Given the description of an element on the screen output the (x, y) to click on. 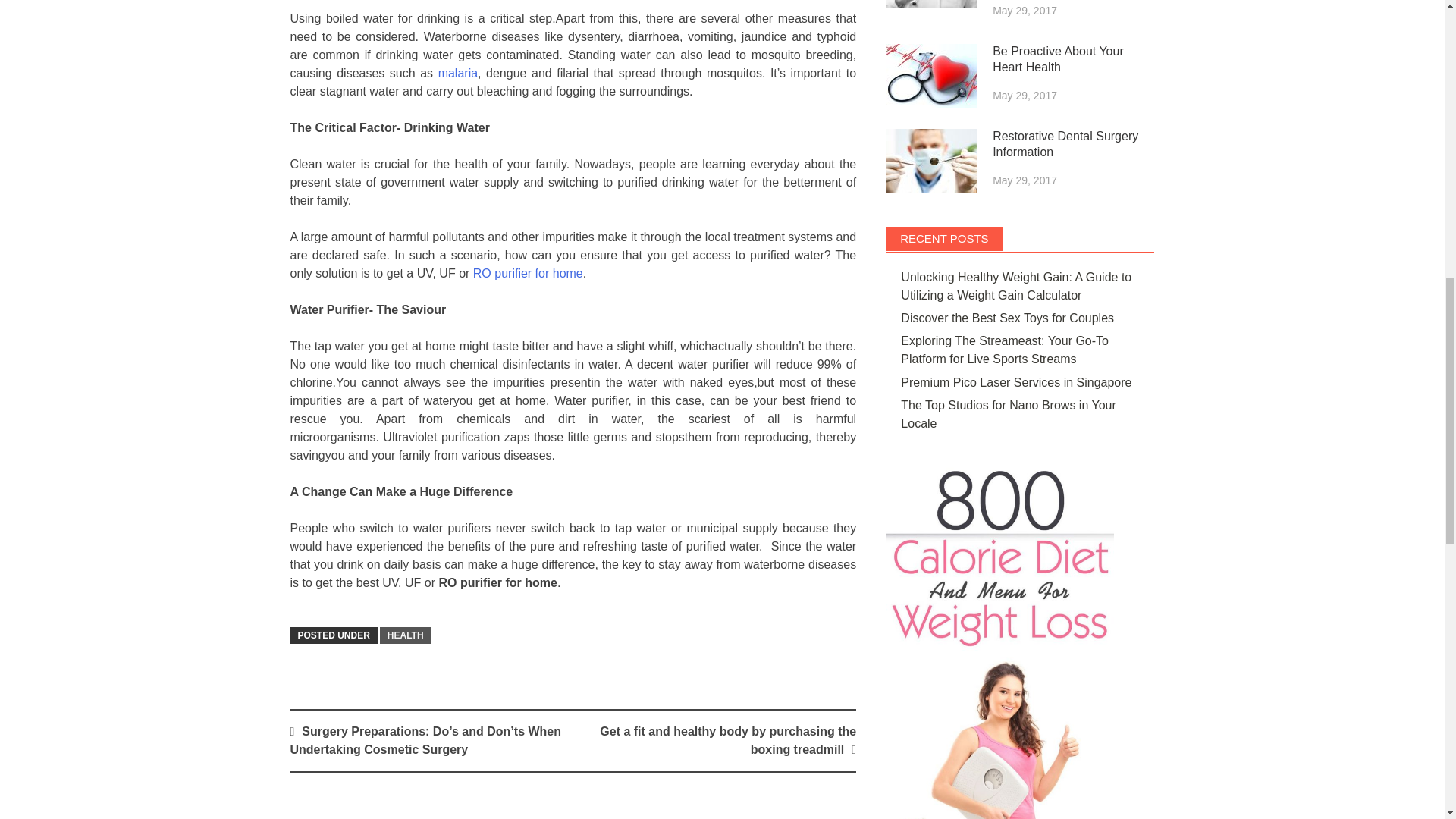
RO purifier for home (528, 273)
Restorative Dental Surgery Information (931, 160)
HEALTH (405, 635)
Be Proactive About Your Heart Health (931, 76)
malaria (457, 72)
